Given the description of an element on the screen output the (x, y) to click on. 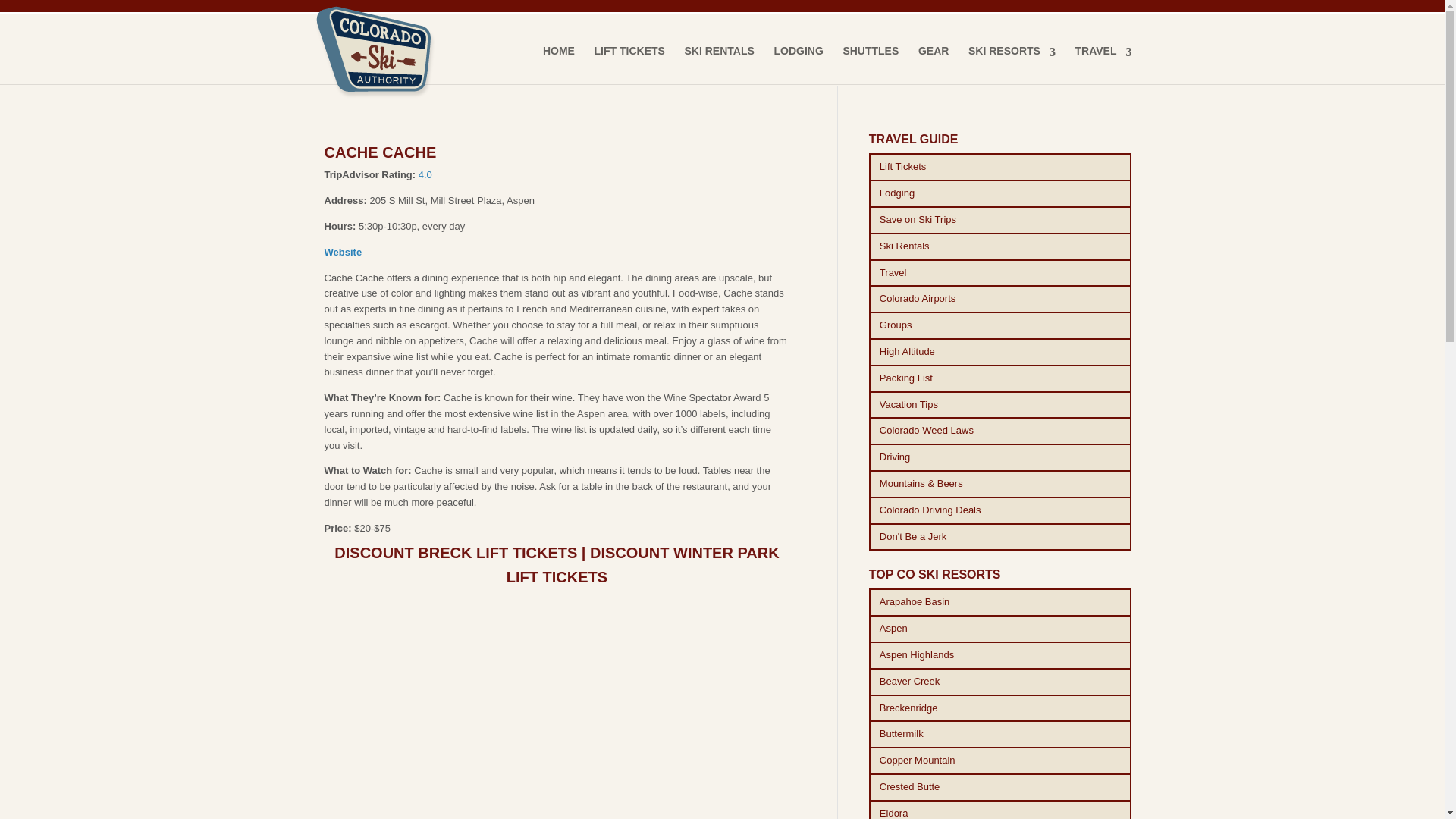
Website (343, 251)
4.0 (425, 174)
SKI RESORTS (1011, 63)
Colorado Airports (1000, 298)
Lodging (1000, 193)
Packing List (1000, 378)
Lodging (1000, 193)
SHUTTLES (870, 63)
Lift Tickets (1000, 166)
Ski Rentals (1000, 246)
